Given the description of an element on the screen output the (x, y) to click on. 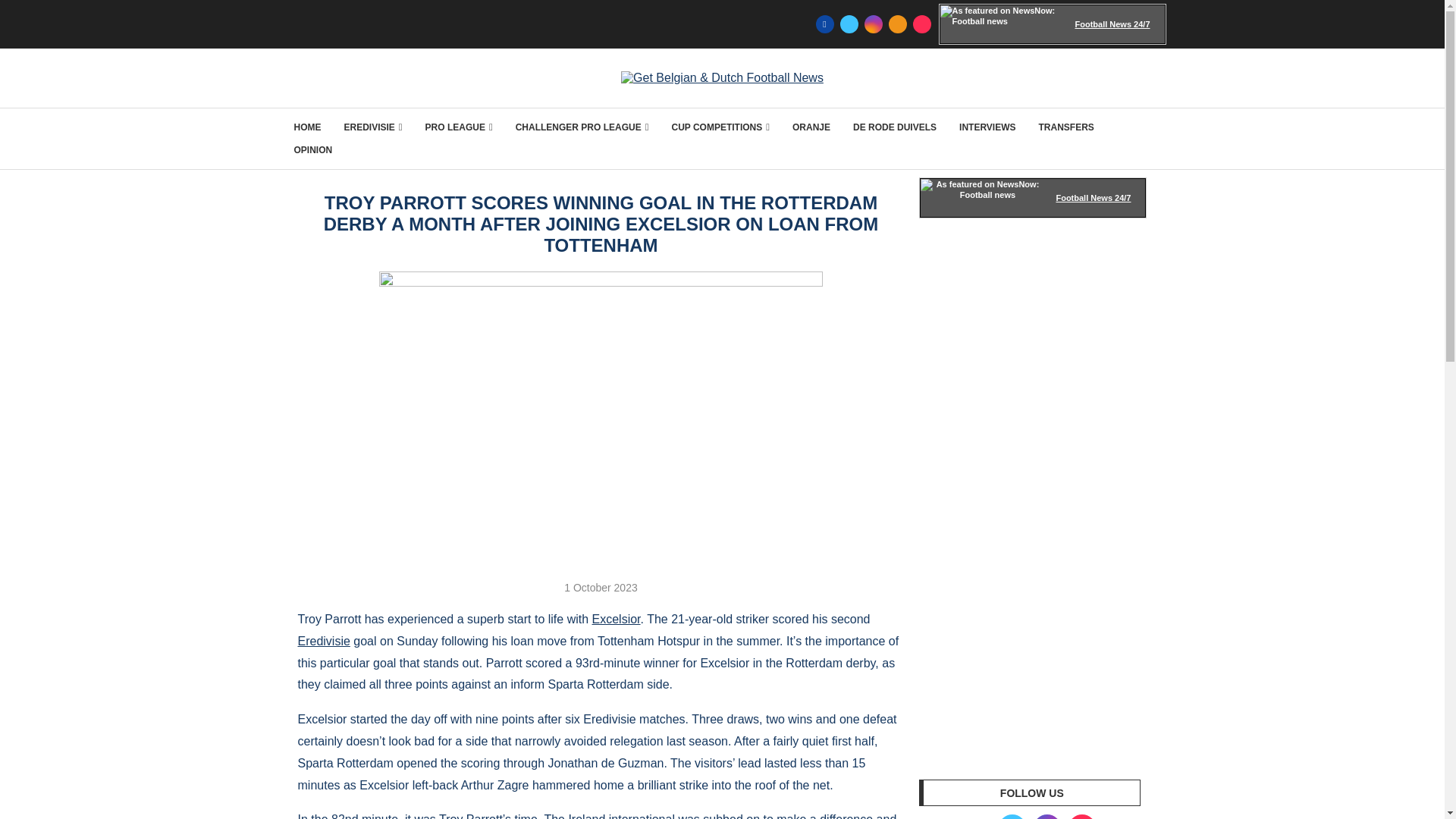
Click here for more Football news from NewsNow (1052, 24)
HOME (307, 127)
Click here for more Football news from NewsNow (1032, 197)
EREDIVISIE (373, 127)
PRO LEAGUE (459, 127)
